Given the description of an element on the screen output the (x, y) to click on. 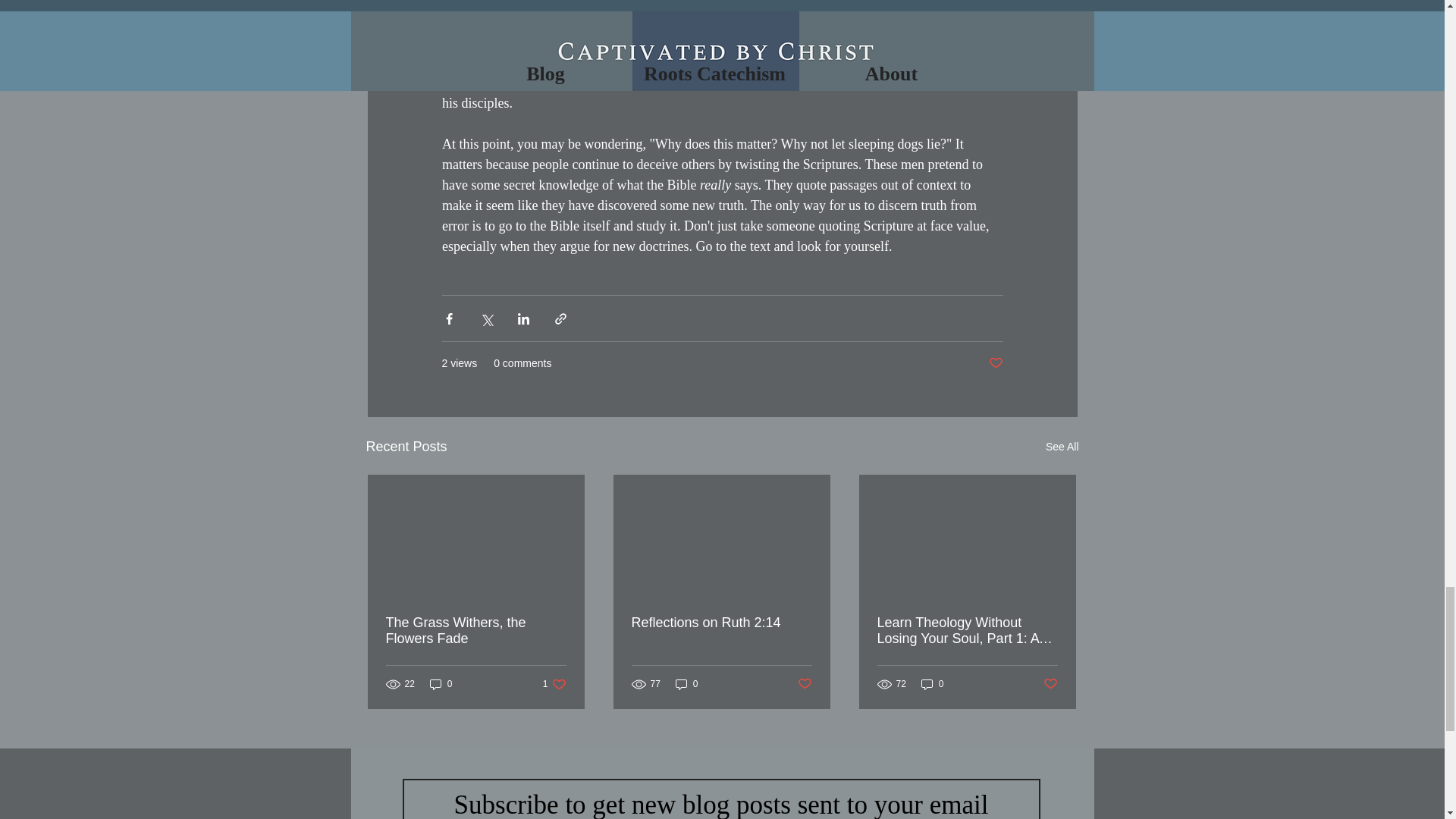
0 (441, 684)
The Grass Withers, the Flowers Fade (475, 631)
Post not marked as liked (1050, 684)
See All (1061, 446)
0 (554, 684)
Reflections on Ruth 2:14 (932, 684)
Post not marked as liked (720, 622)
Post not marked as liked (995, 363)
0 (804, 684)
